Given the description of an element on the screen output the (x, y) to click on. 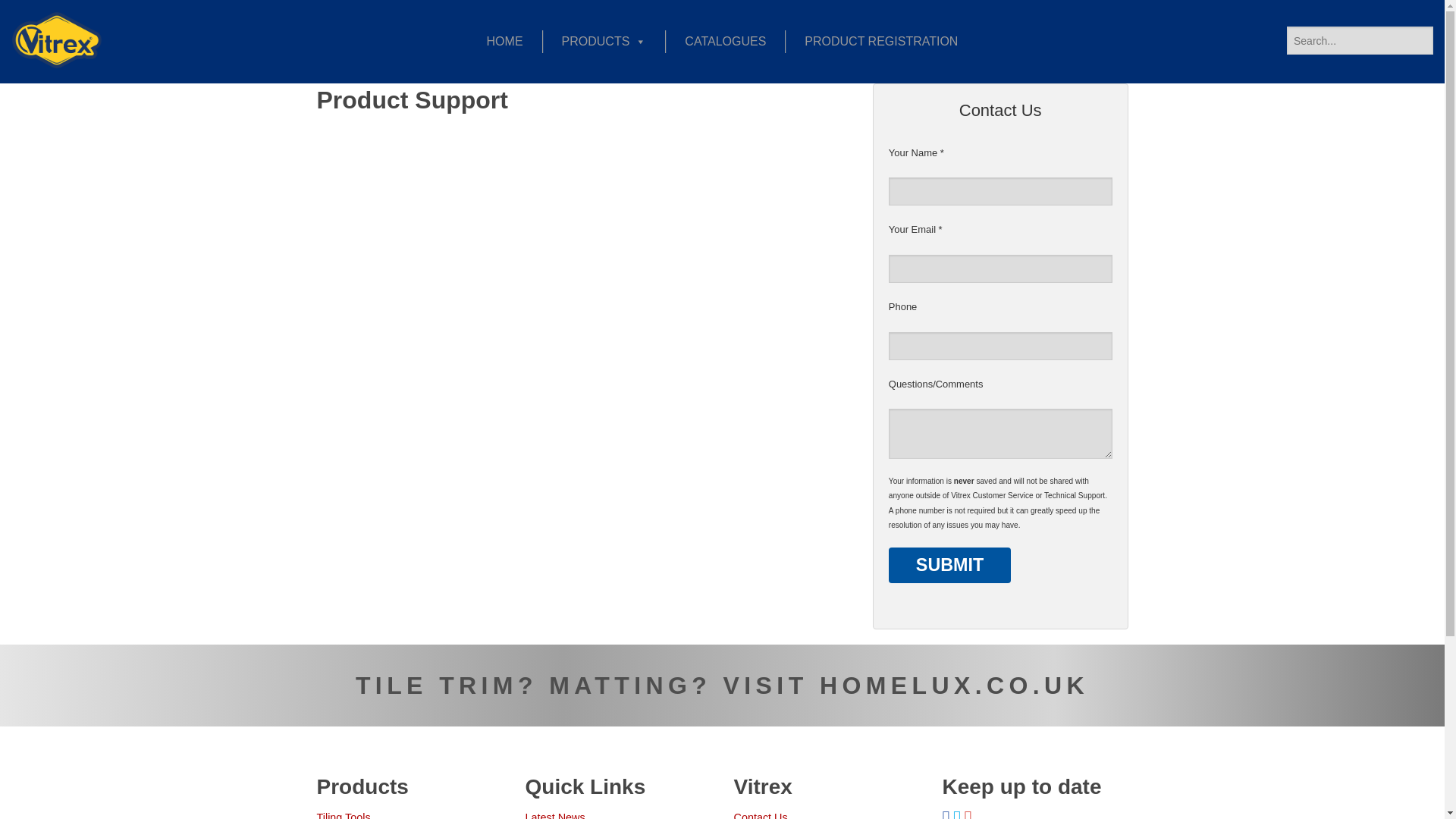
HOME (504, 41)
TILE TRIM? MATTING? VISIT HOMELUX.CO.UK (722, 685)
Submit (949, 565)
Tiling Tools (344, 815)
PRODUCTS (604, 41)
PRODUCT REGISTRATION (881, 41)
Submit (949, 565)
CATALOGUES (724, 41)
